Given the description of an element on the screen output the (x, y) to click on. 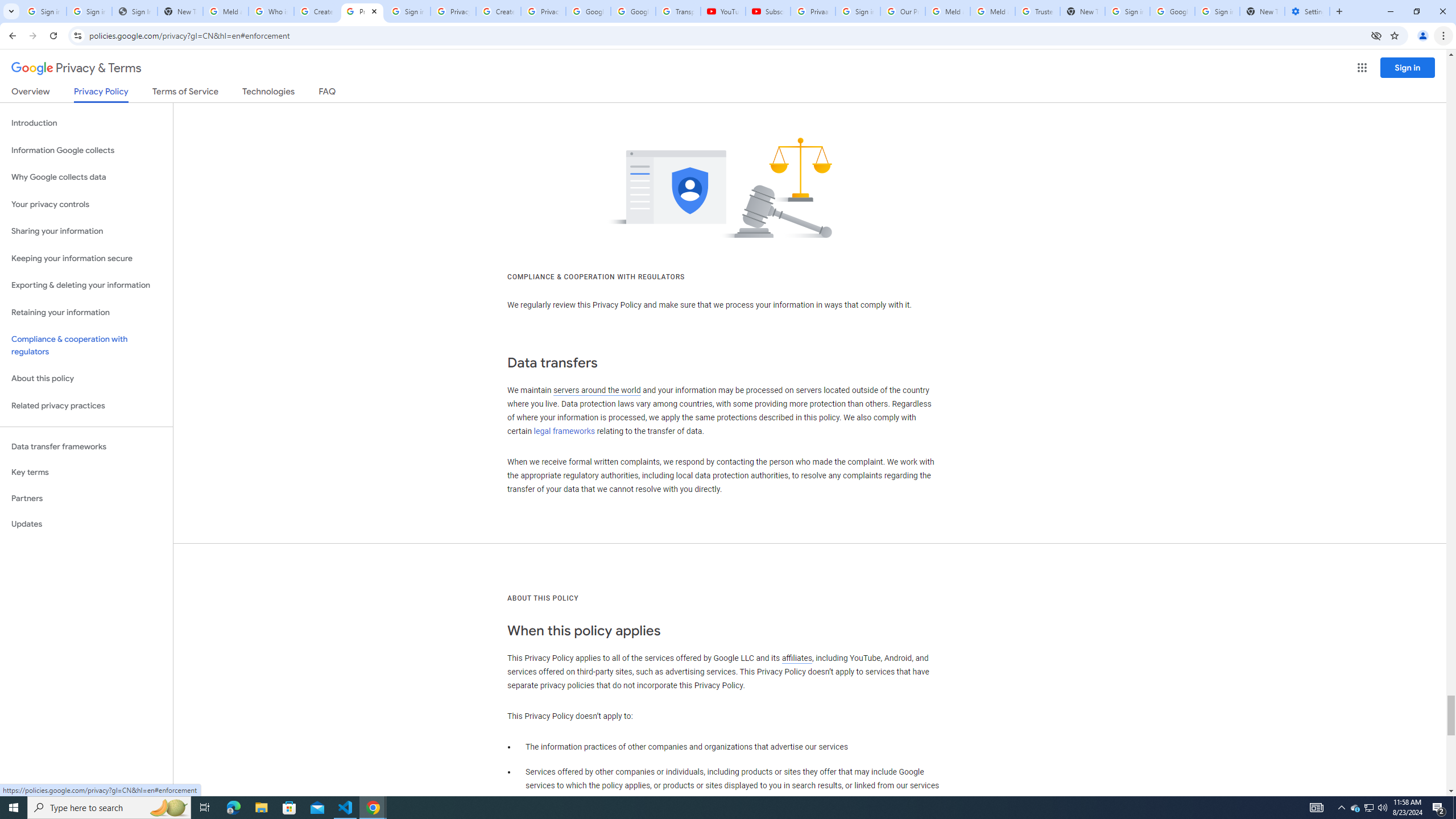
Keeping your information secure (86, 258)
Subscriptions - YouTube (767, 11)
Google Cybersecurity Innovations - Google Safety Center (1171, 11)
Retaining your information (86, 312)
Trusted Information and Content - Google Safety Center (1037, 11)
Sign in - Google Accounts (407, 11)
Related privacy practices (86, 405)
